Given the description of an element on the screen output the (x, y) to click on. 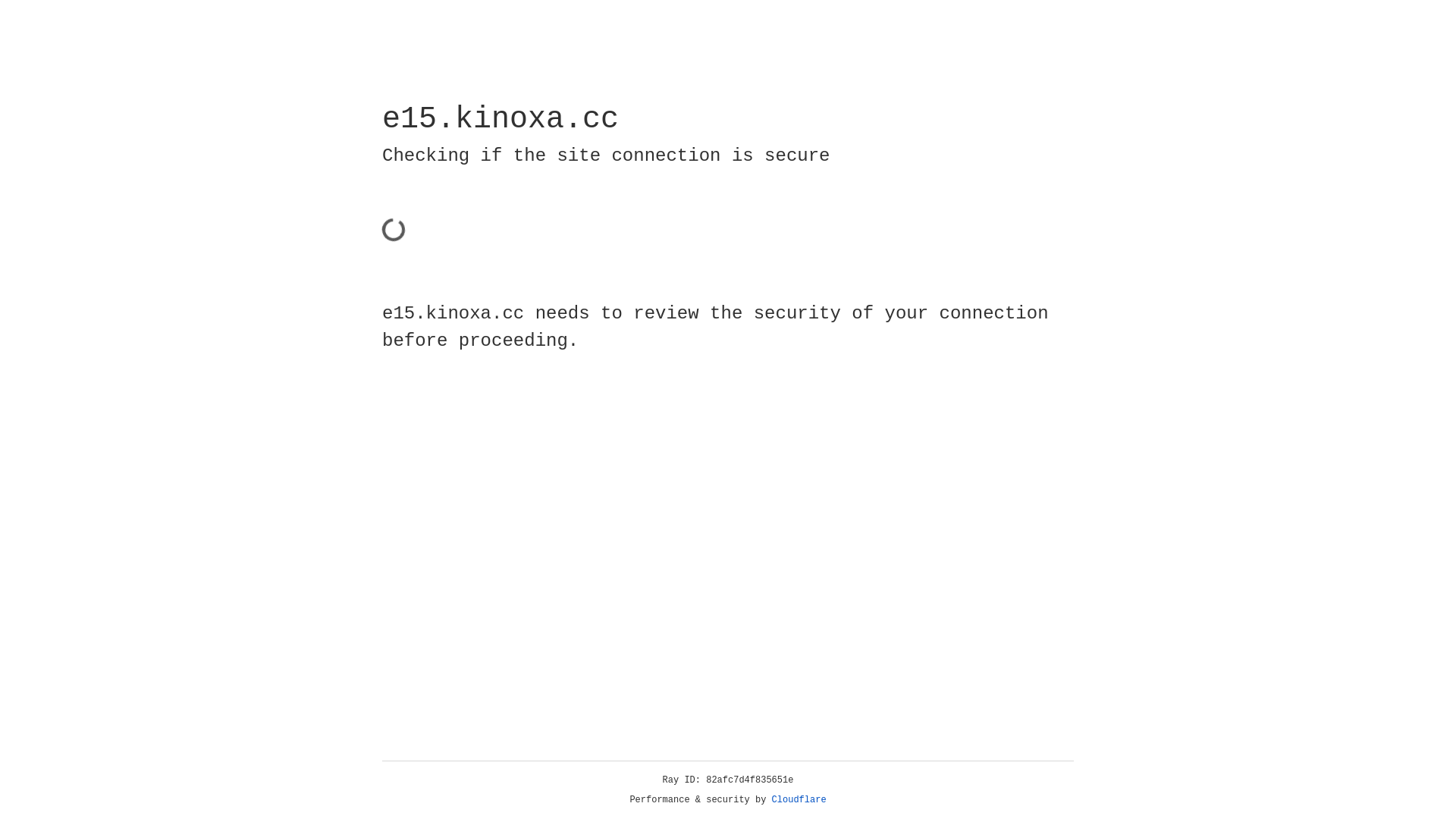
Cloudflare Element type: text (798, 799)
